Given the description of an element on the screen output the (x, y) to click on. 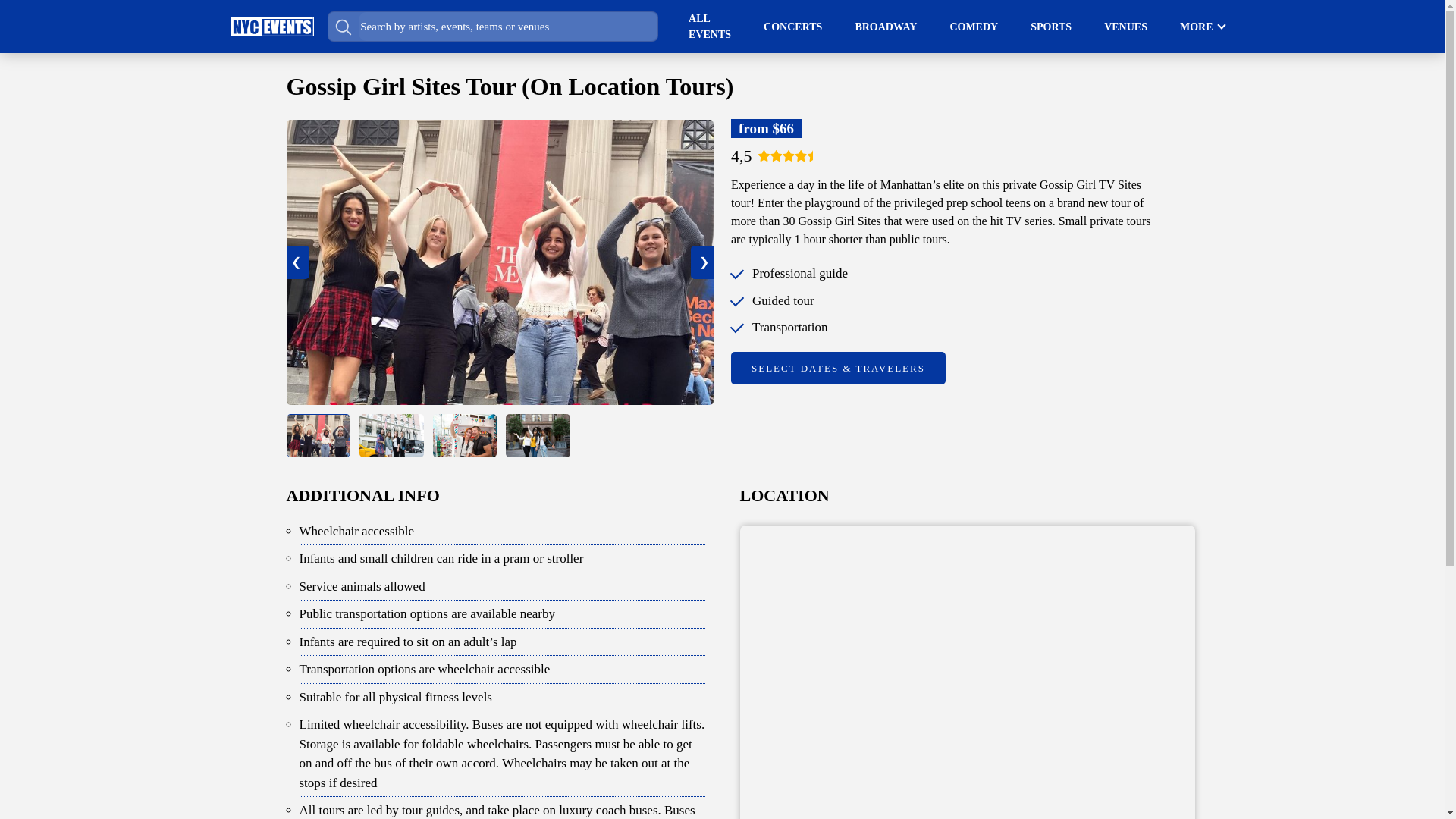
COMEDY (973, 26)
CONCERTS (792, 26)
SPORTS (1050, 26)
MORE (1195, 26)
BROADWAY (885, 26)
ALL EVENTS (709, 26)
VENUES (1125, 26)
